Given the description of an element on the screen output the (x, y) to click on. 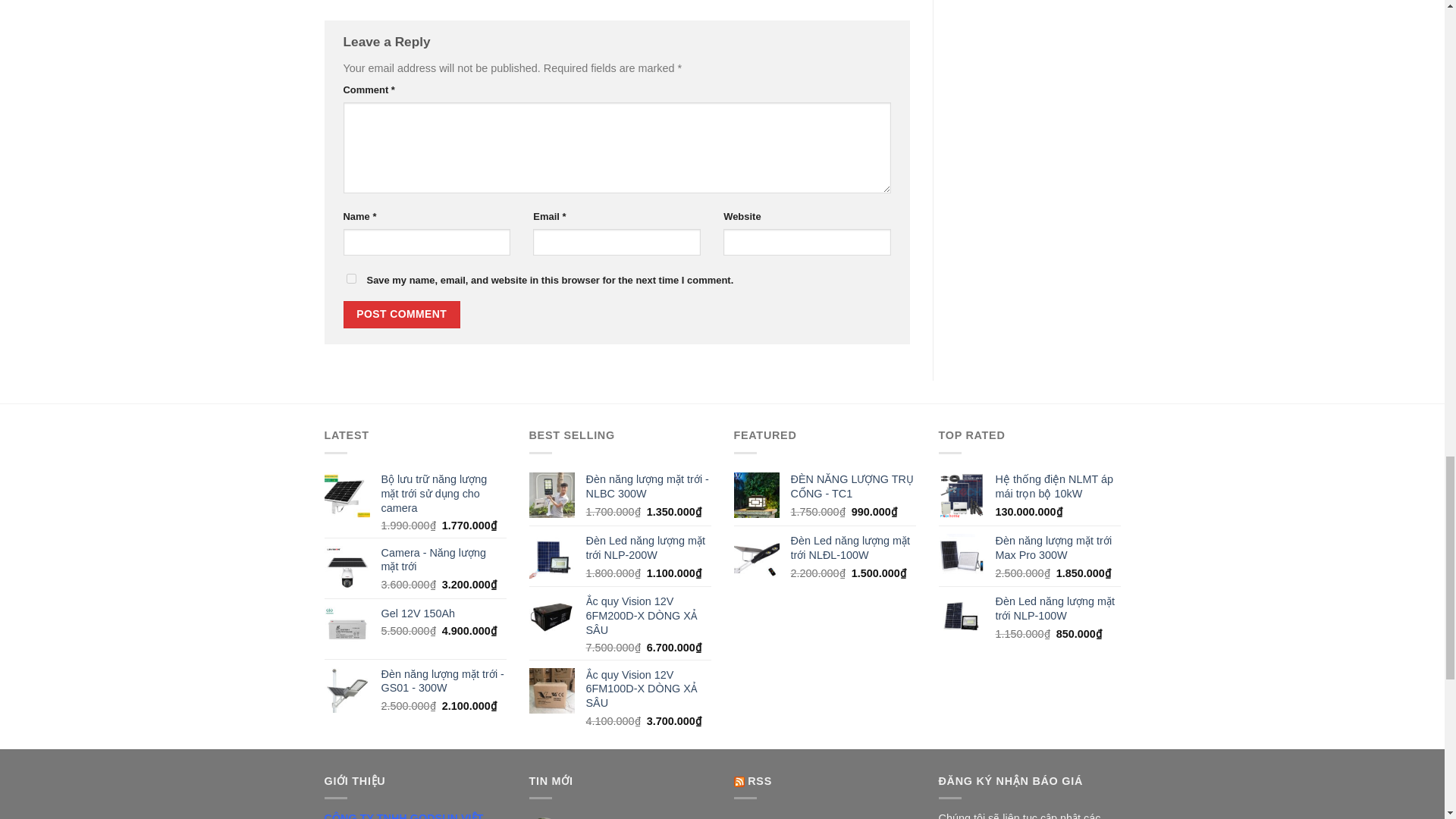
yes (350, 278)
Post Comment (401, 314)
